Given the description of an element on the screen output the (x, y) to click on. 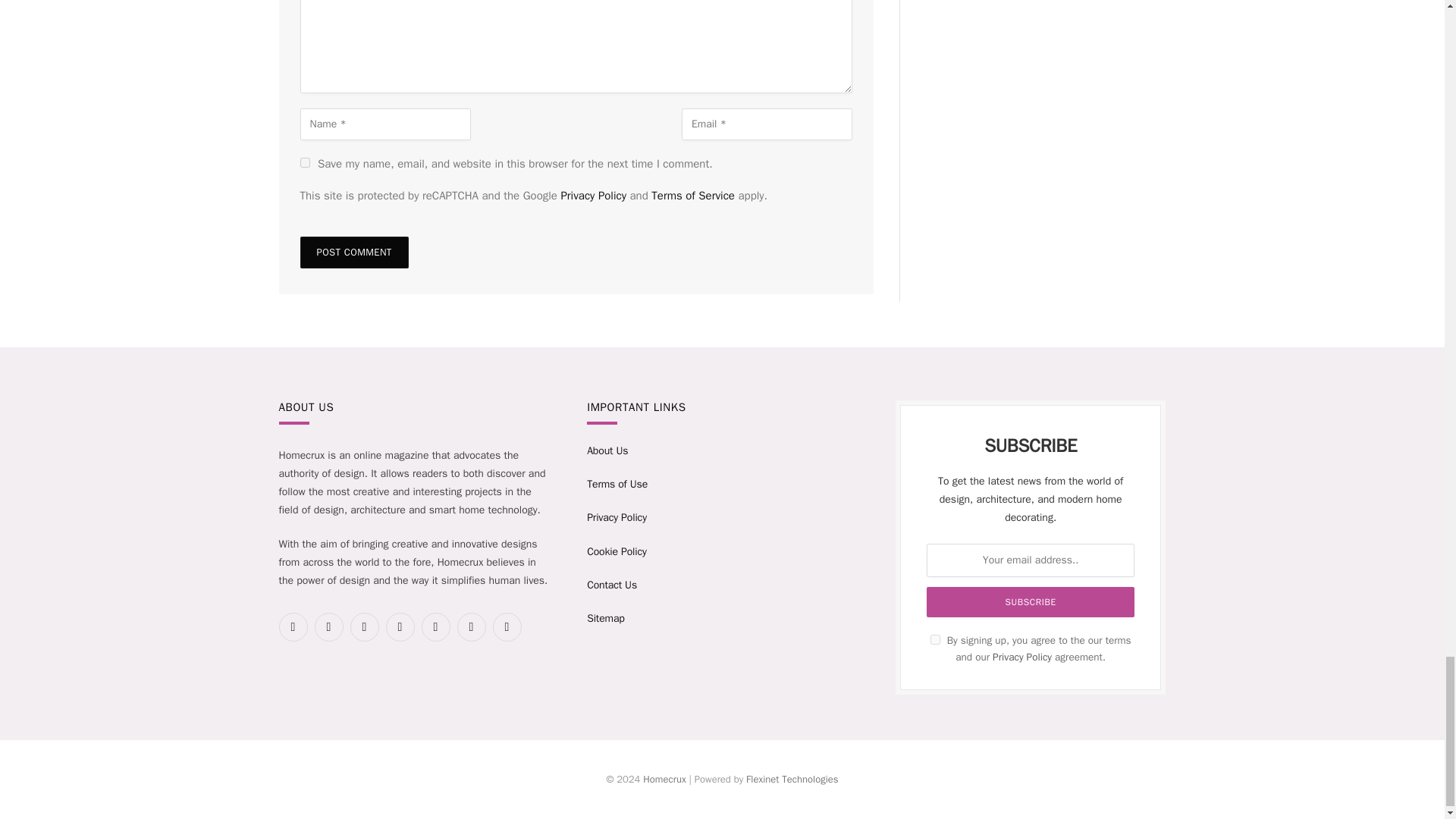
SUBSCRIBE (1030, 602)
on (935, 639)
Post Comment (354, 252)
yes (304, 162)
